Given the description of an element on the screen output the (x, y) to click on. 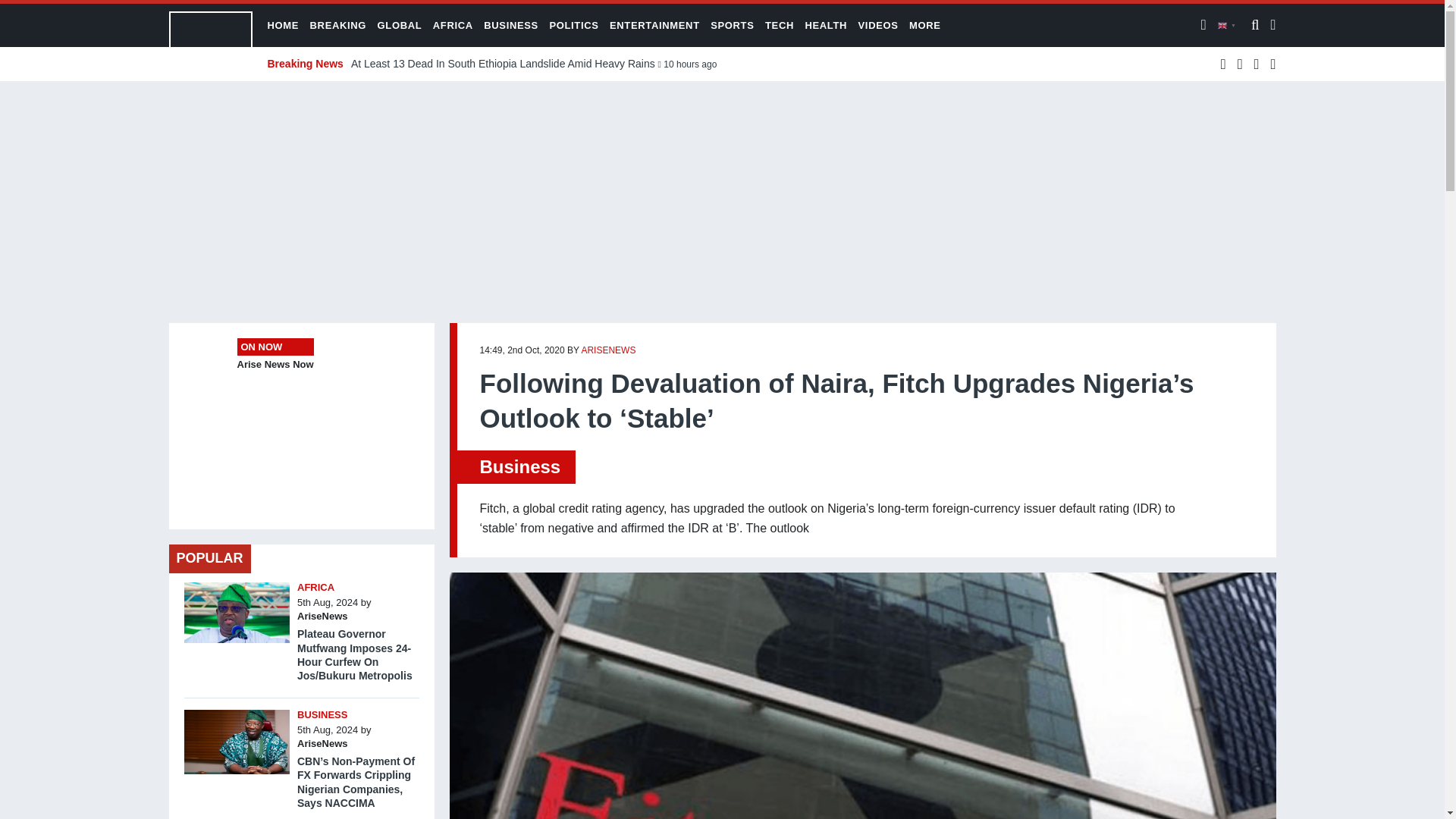
BUSINESS (322, 714)
ARISENEWS (607, 349)
Business (519, 466)
AFRICA (315, 586)
AriseNews (322, 615)
Posts by AriseNews (322, 743)
Posts by AriseNews (607, 349)
Posts by AriseNews (322, 615)
AriseNews (322, 743)
